Given the description of an element on the screen output the (x, y) to click on. 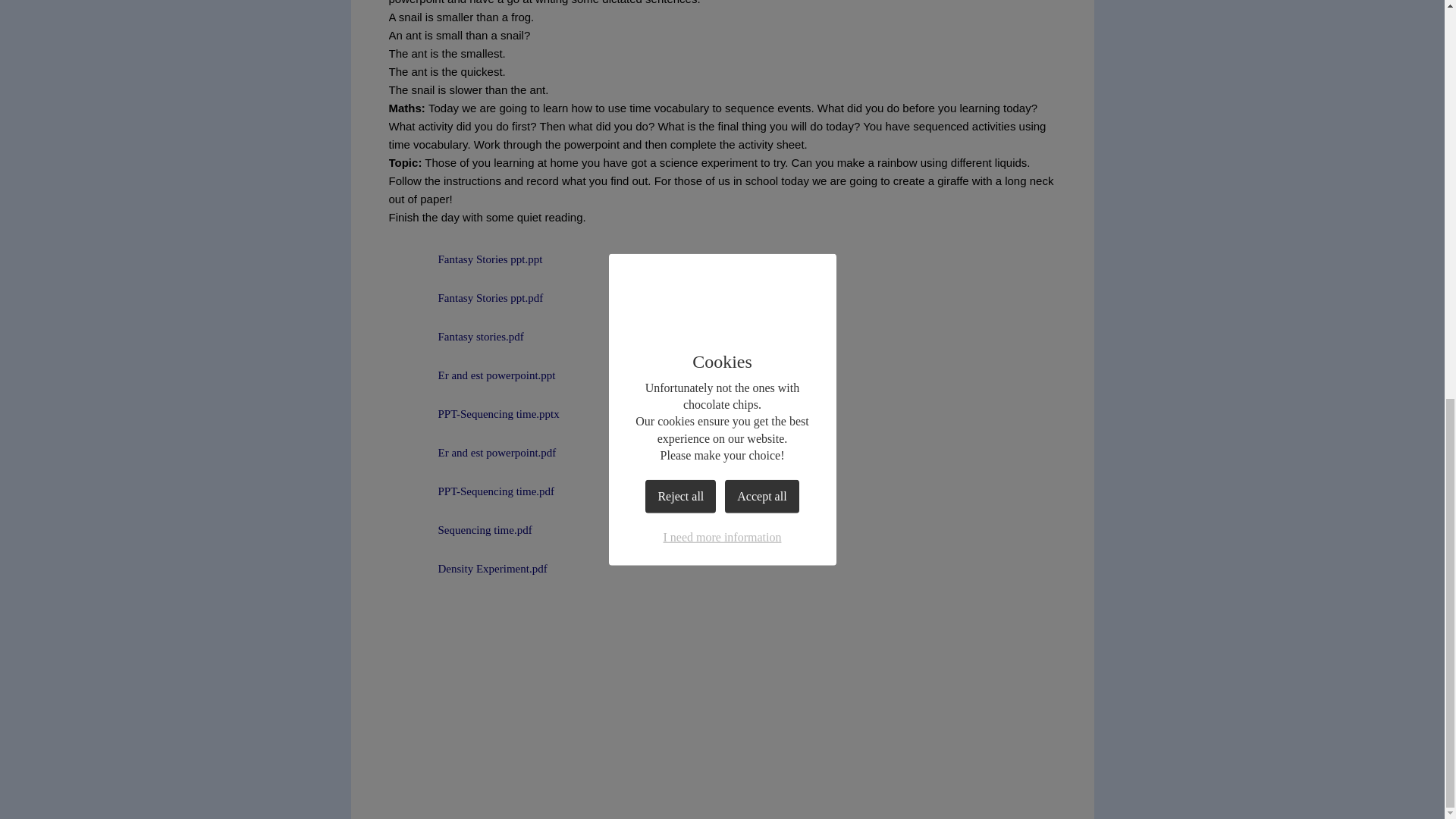
Density Experiment.pdf (467, 568)
Er and est powerpoint.ppt (471, 375)
Fantasy Stories ppt.pdf (465, 297)
Sequencing time.pdf (459, 529)
PPT-Sequencing time.pdf (471, 491)
Fantasy Stories ppt.ppt (464, 258)
PPT-Sequencing time.pptx (473, 413)
Er and est powerpoint.pdf (472, 452)
Fantasy stories.pdf (455, 336)
